Given the description of an element on the screen output the (x, y) to click on. 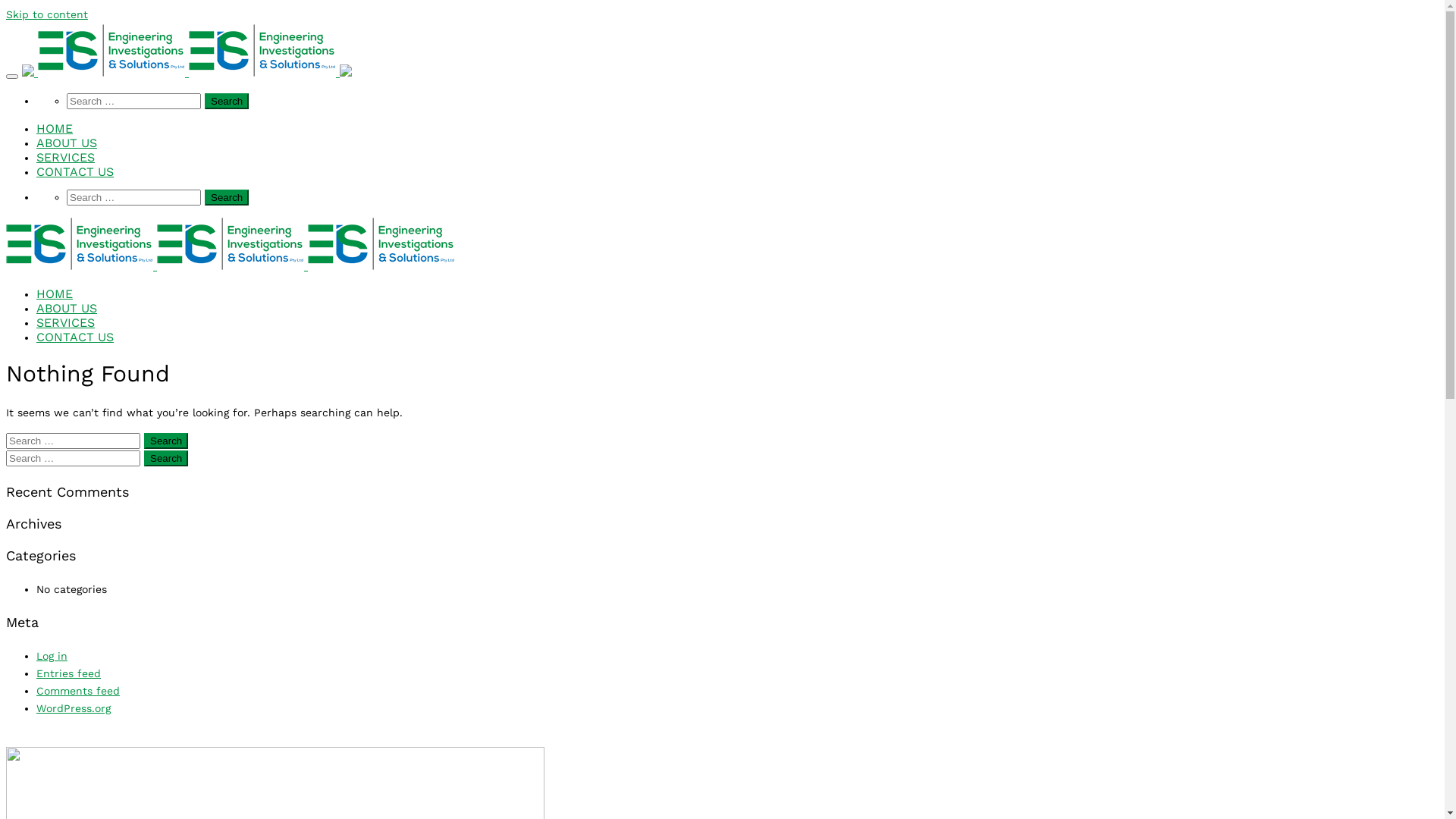
ABOUT US Element type: text (737, 308)
Entries feed Element type: text (68, 673)
Search Element type: text (166, 440)
HOME Element type: text (737, 294)
HOME Element type: text (737, 128)
Skip to content Element type: text (46, 14)
Search Element type: text (226, 101)
SERVICES Element type: text (737, 157)
Engis Element type: hover (186, 72)
Engis Element type: hover (230, 265)
CONTACT US Element type: text (737, 172)
Comments feed Element type: text (77, 690)
ABOUT US Element type: text (737, 143)
Search Element type: text (166, 458)
Log in Element type: text (51, 655)
Search Element type: text (226, 197)
SERVICES Element type: text (737, 322)
WordPress.org Element type: text (73, 708)
CONTACT US Element type: text (737, 337)
